Given the description of an element on the screen output the (x, y) to click on. 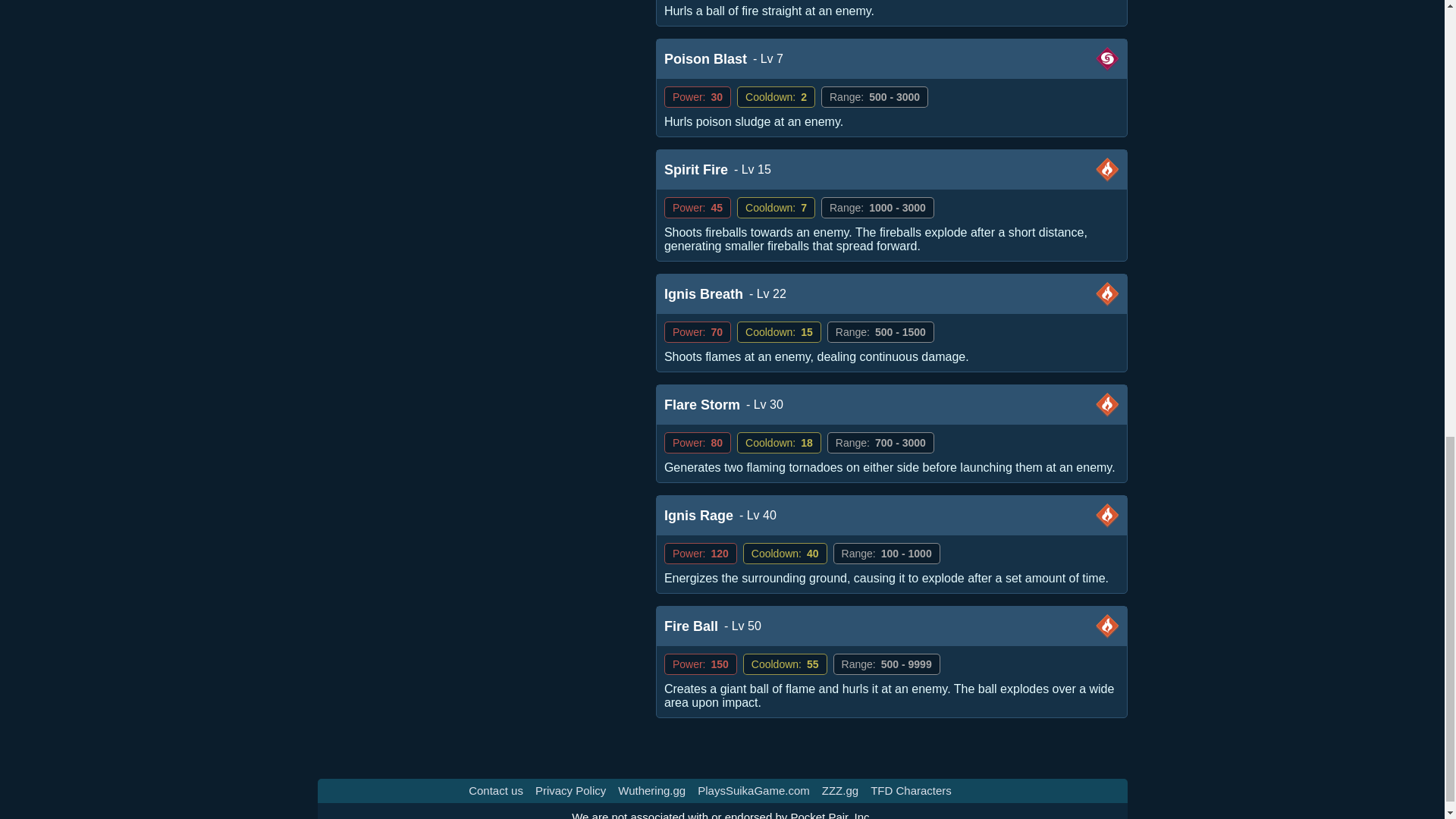
Privacy Policy (570, 789)
TFD Characters (911, 789)
Wuthering.gg (651, 789)
ZZZ.gg (840, 789)
PlaysSuikaGame.com (753, 789)
Contact us (495, 789)
